Given the description of an element on the screen output the (x, y) to click on. 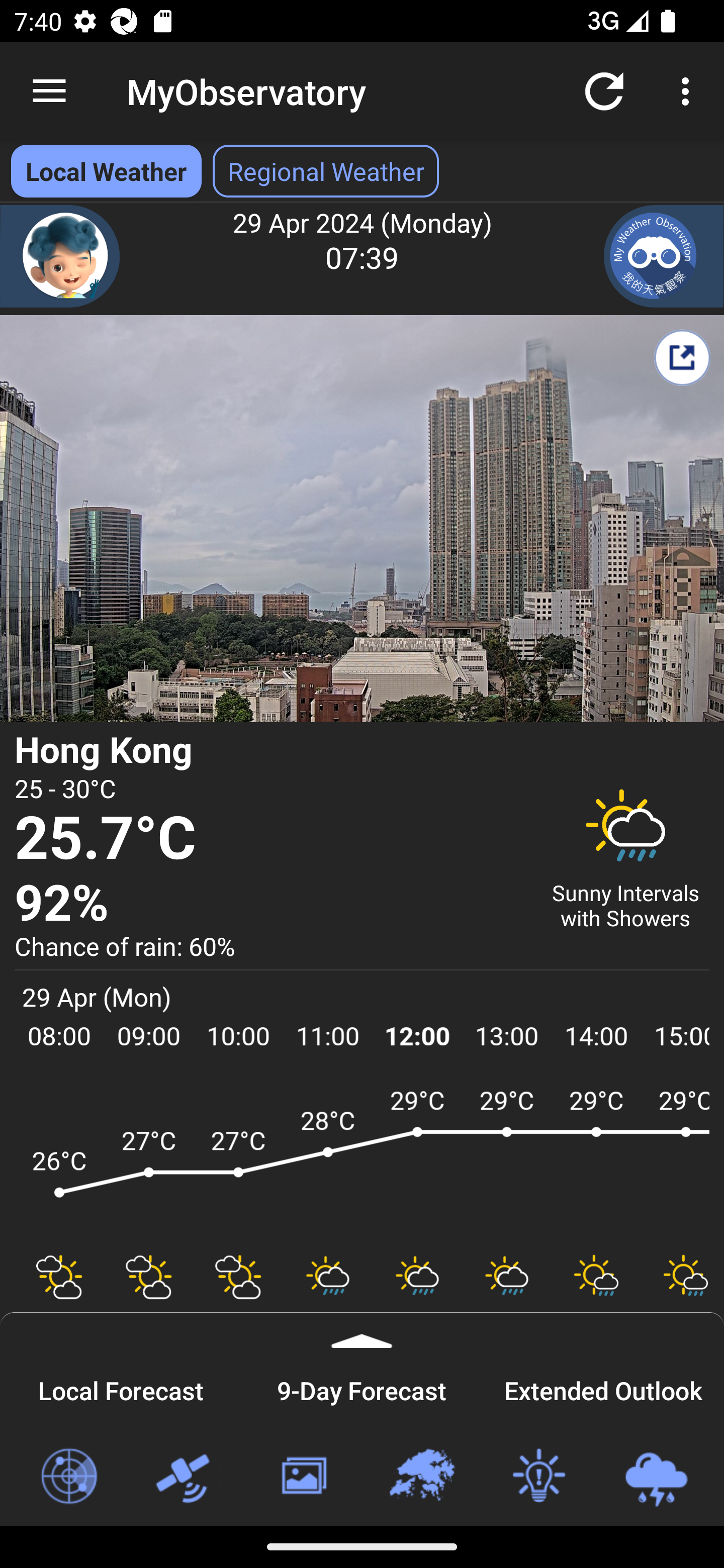
Navigate up (49, 91)
Refresh (604, 90)
More options (688, 90)
Local Weather Local Weather selected (105, 170)
Regional Weather Select Regional Weather (325, 170)
Chatbot (60, 256)
My Weather Observation (663, 256)
Share My Weather Report (681, 357)
25.7°C Temperature
25.7 degree Celsius (270, 839)
92% Relative Humidity
92 percent (270, 903)
ARWF (361, 1160)
Expand (362, 1330)
Local Forecast (120, 1387)
Extended Outlook (603, 1387)
Radar Images (68, 1476)
Satellite Images (185, 1476)
Weather Photos (302, 1476)
Regional Weather (420, 1476)
Weather Tips (537, 1476)
Loc-based Rain & Lightning Forecast (655, 1476)
